Given the description of an element on the screen output the (x, y) to click on. 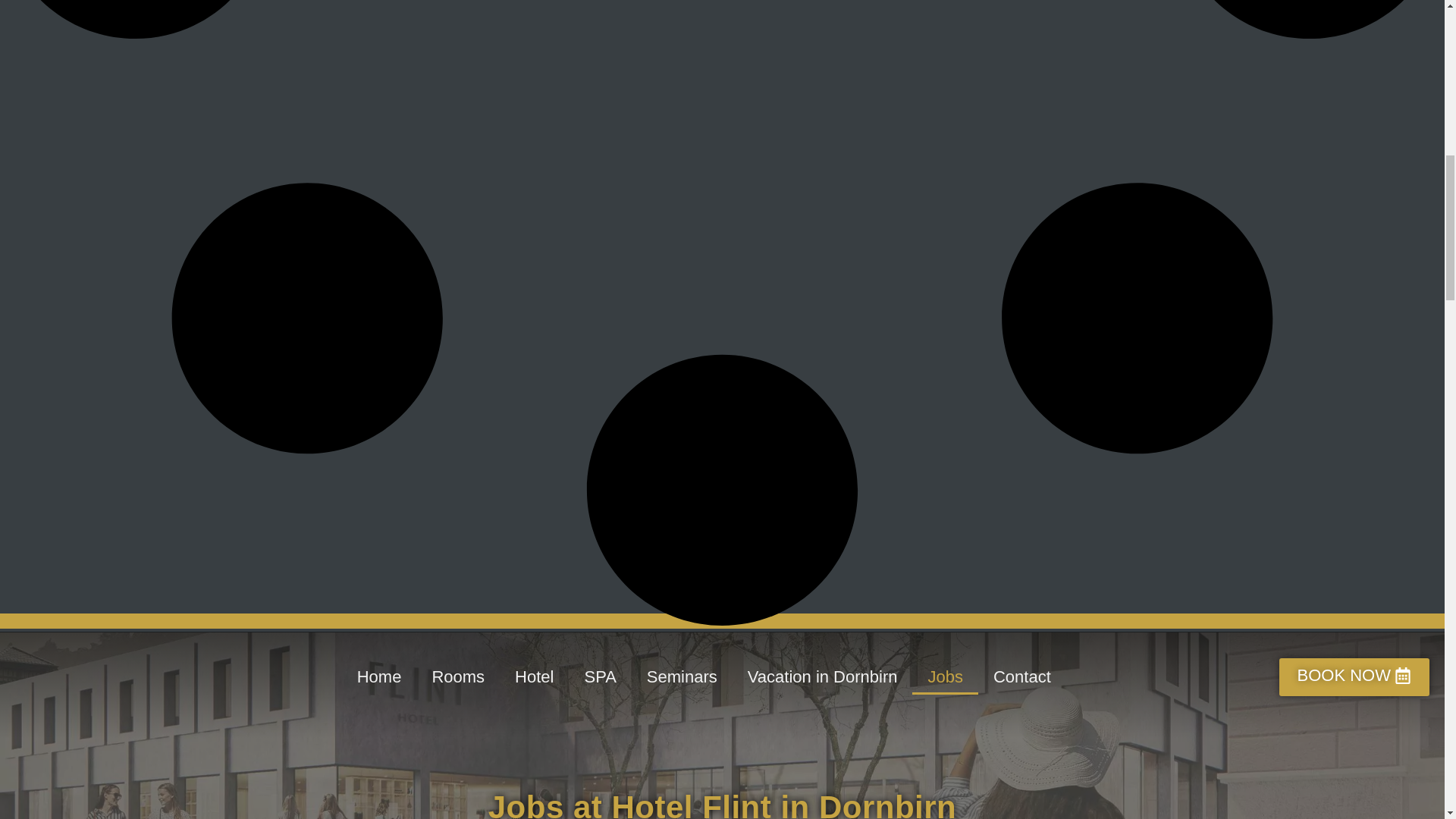
Vacation in Dornbirn (822, 677)
Seminars (681, 677)
Contact (1021, 677)
BOOK NOW (1354, 677)
Jobs (944, 677)
Home (379, 677)
Rooms (457, 677)
SPA (599, 677)
Hotel (534, 677)
